Given the description of an element on the screen output the (x, y) to click on. 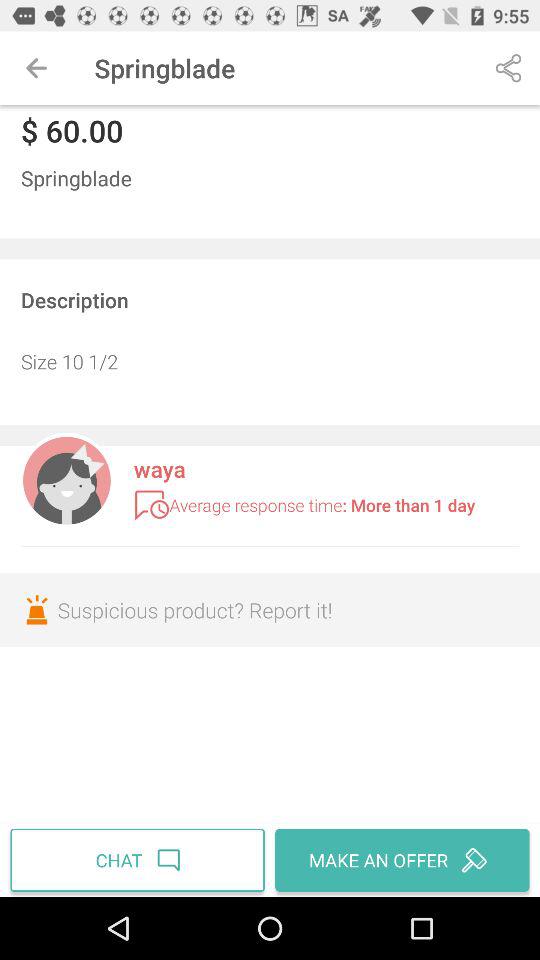
open the icon to the right of the chat (399, 860)
